Given the description of an element on the screen output the (x, y) to click on. 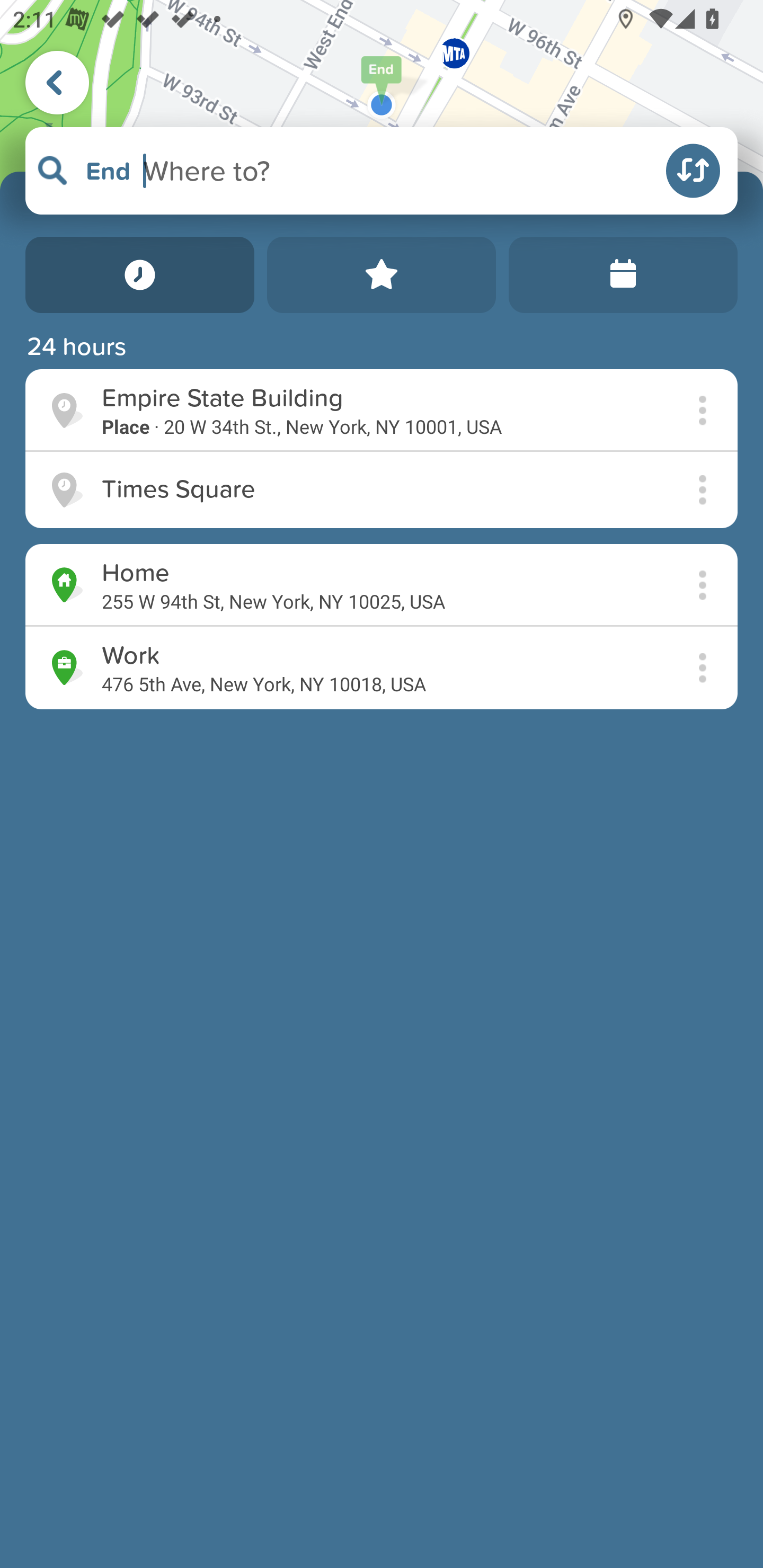
Saved (381, 274)
